Given the description of an element on the screen output the (x, y) to click on. 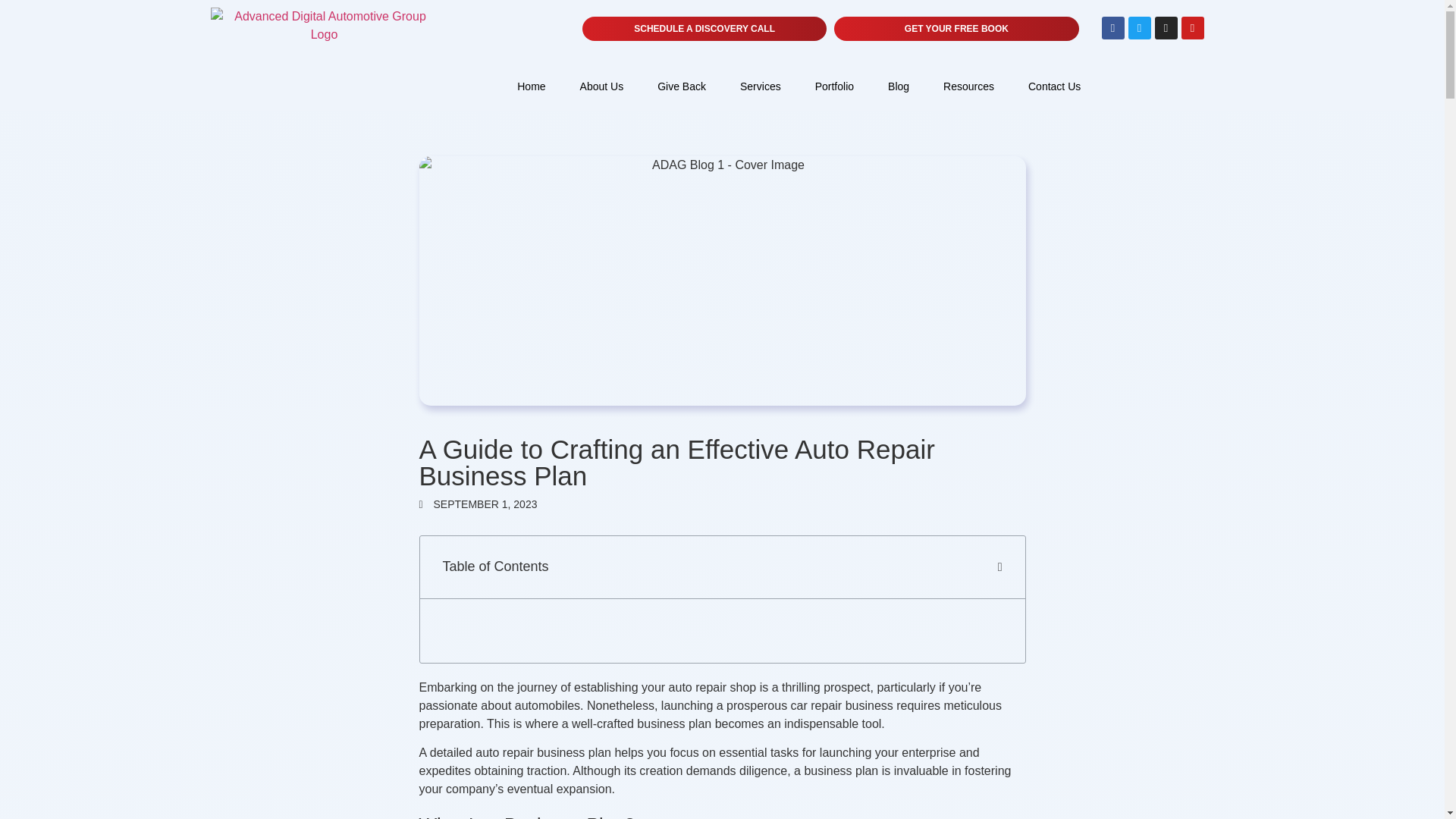
GET YOUR FREE BOOK (956, 28)
Home (531, 85)
Blog (898, 85)
Services (760, 85)
Portfolio (834, 85)
Give Back (681, 85)
SCHEDULE A DISCOVERY CALL (704, 28)
Resources (968, 85)
About Us (601, 85)
Contact Us (1054, 85)
